Given the description of an element on the screen output the (x, y) to click on. 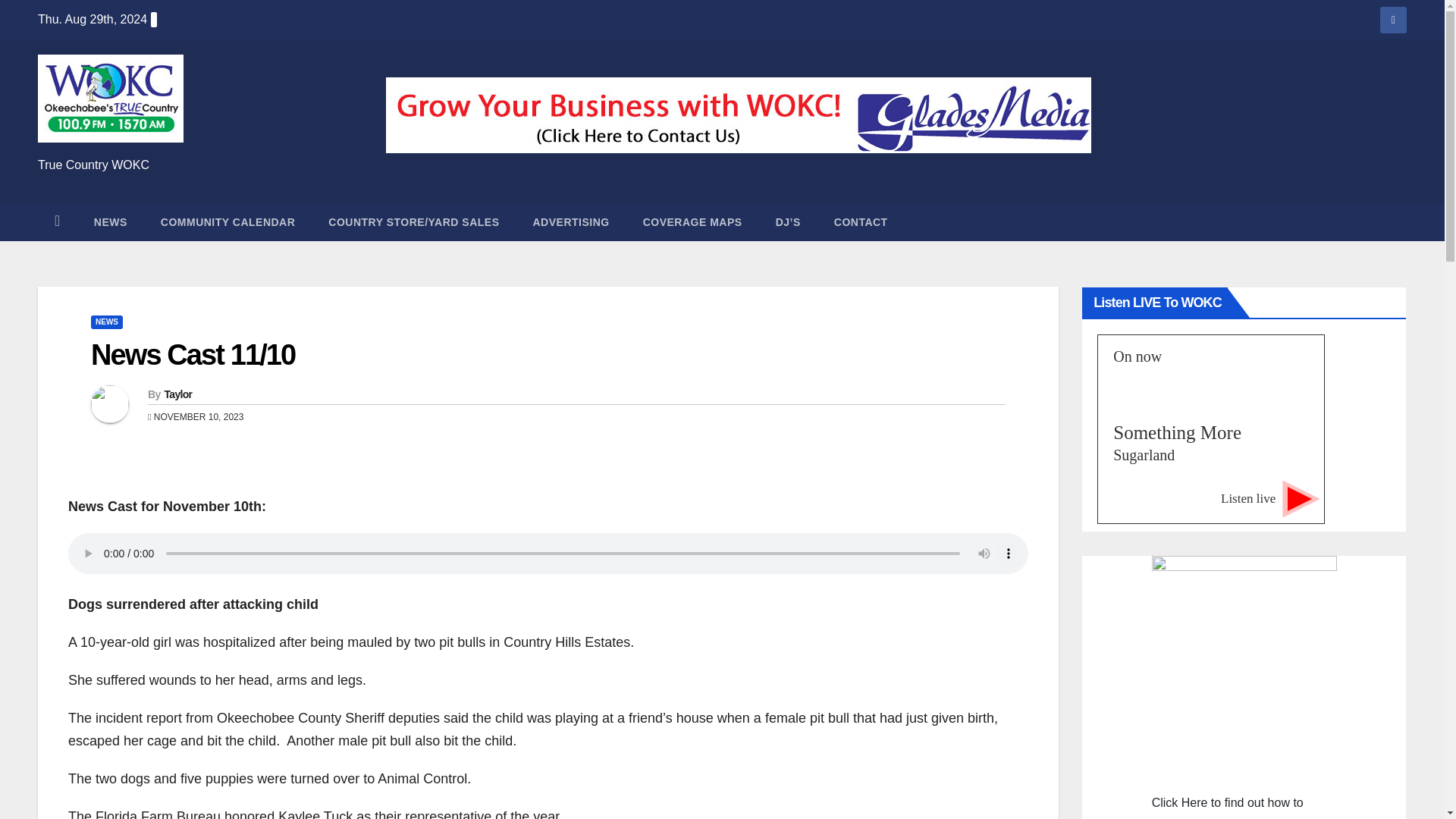
Advertising (570, 221)
COMMUNITY CALENDAR (228, 221)
COVERAGE MAPS (692, 221)
Contact (860, 221)
ADVERTISING (570, 221)
Taylor (177, 394)
Home (57, 221)
NEWS (110, 221)
CONTACT (860, 221)
NEWS (106, 322)
